Given the description of an element on the screen output the (x, y) to click on. 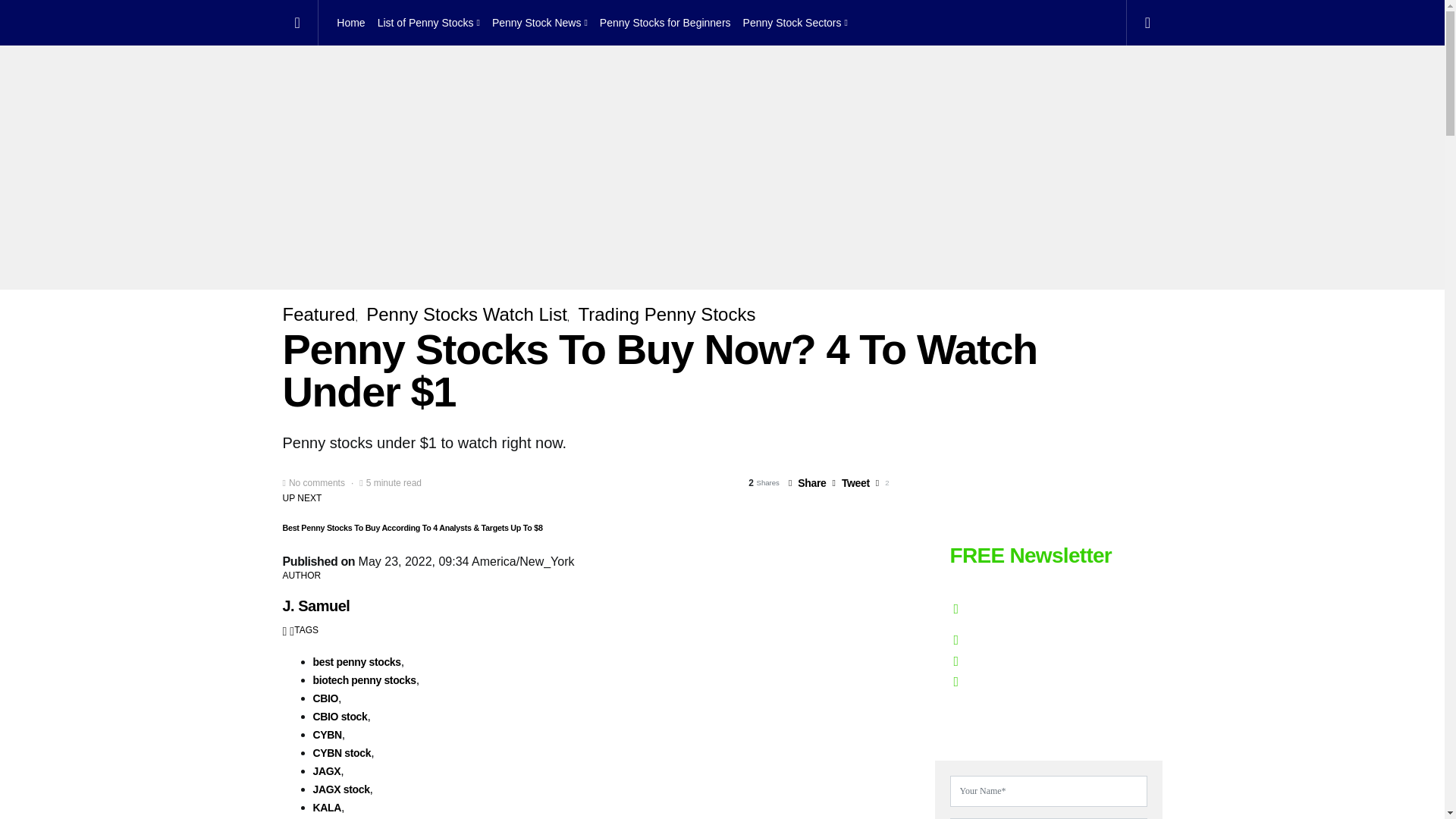
List of Penny Stocks (428, 22)
Penny Stock Sectors (791, 22)
Penny Stocks for Beginners (665, 22)
Penny Stock News (540, 22)
